Given the description of an element on the screen output the (x, y) to click on. 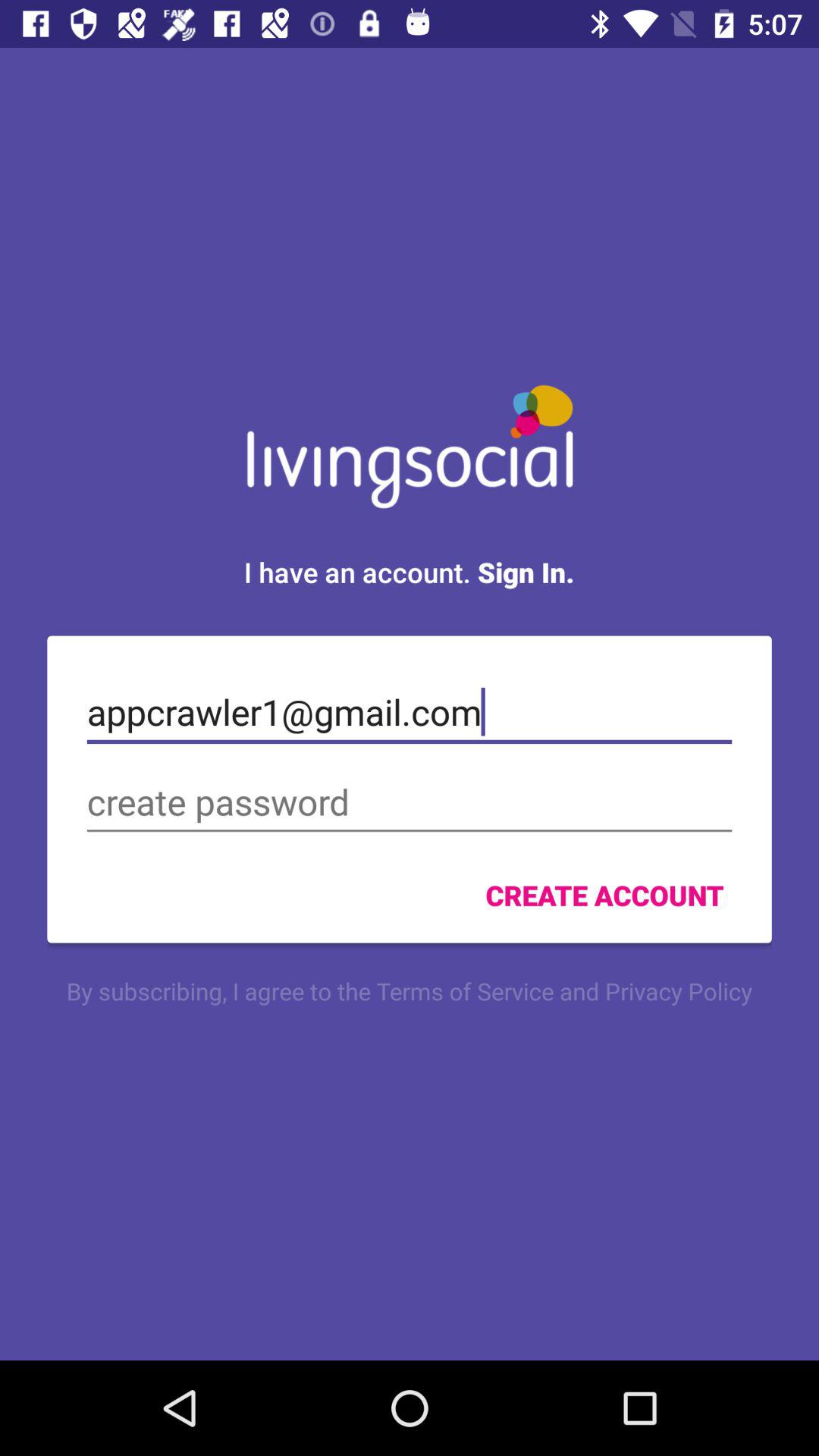
flip until the create account (604, 894)
